Given the description of an element on the screen output the (x, y) to click on. 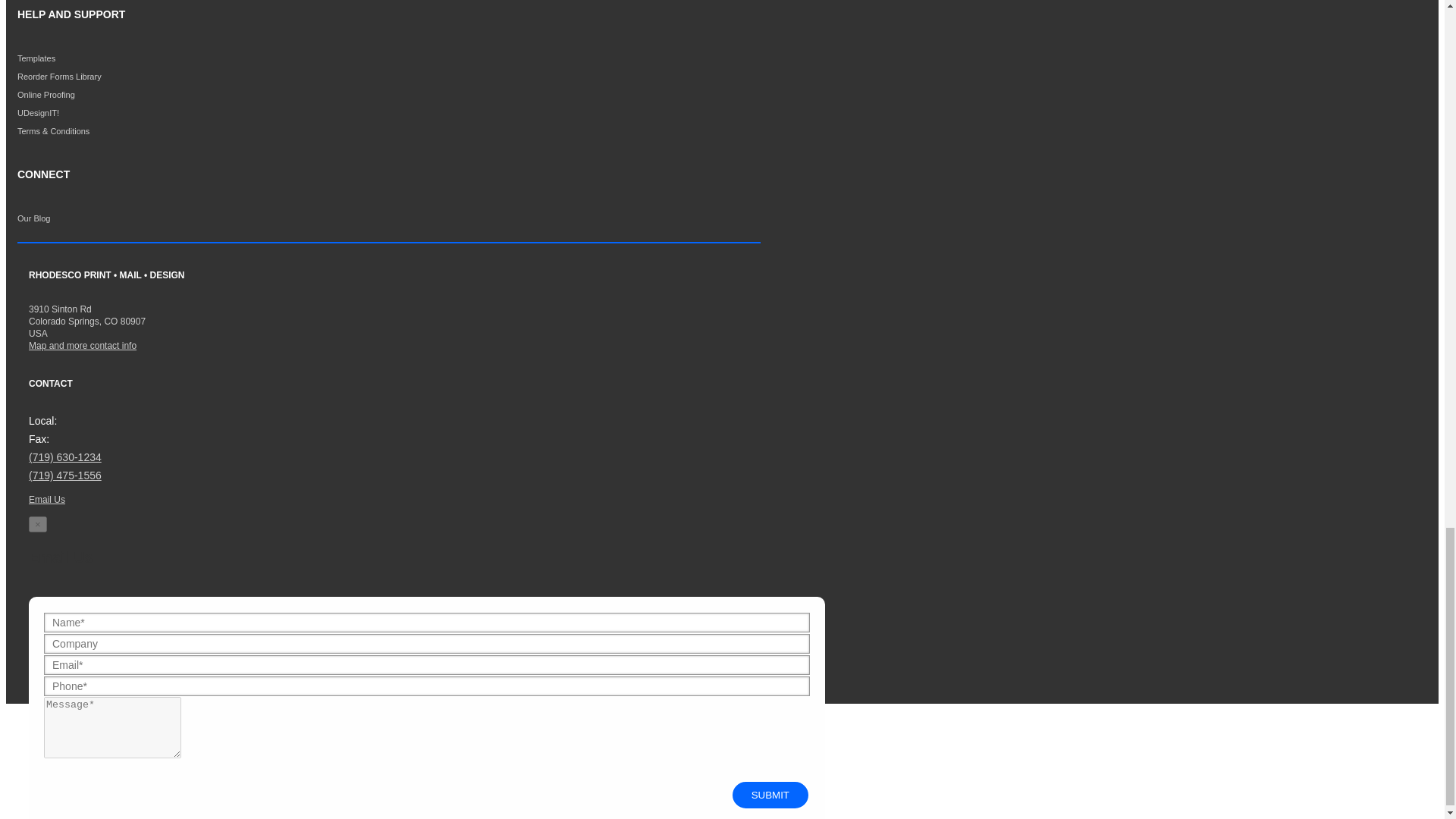
Submit (769, 794)
